Given the description of an element on the screen output the (x, y) to click on. 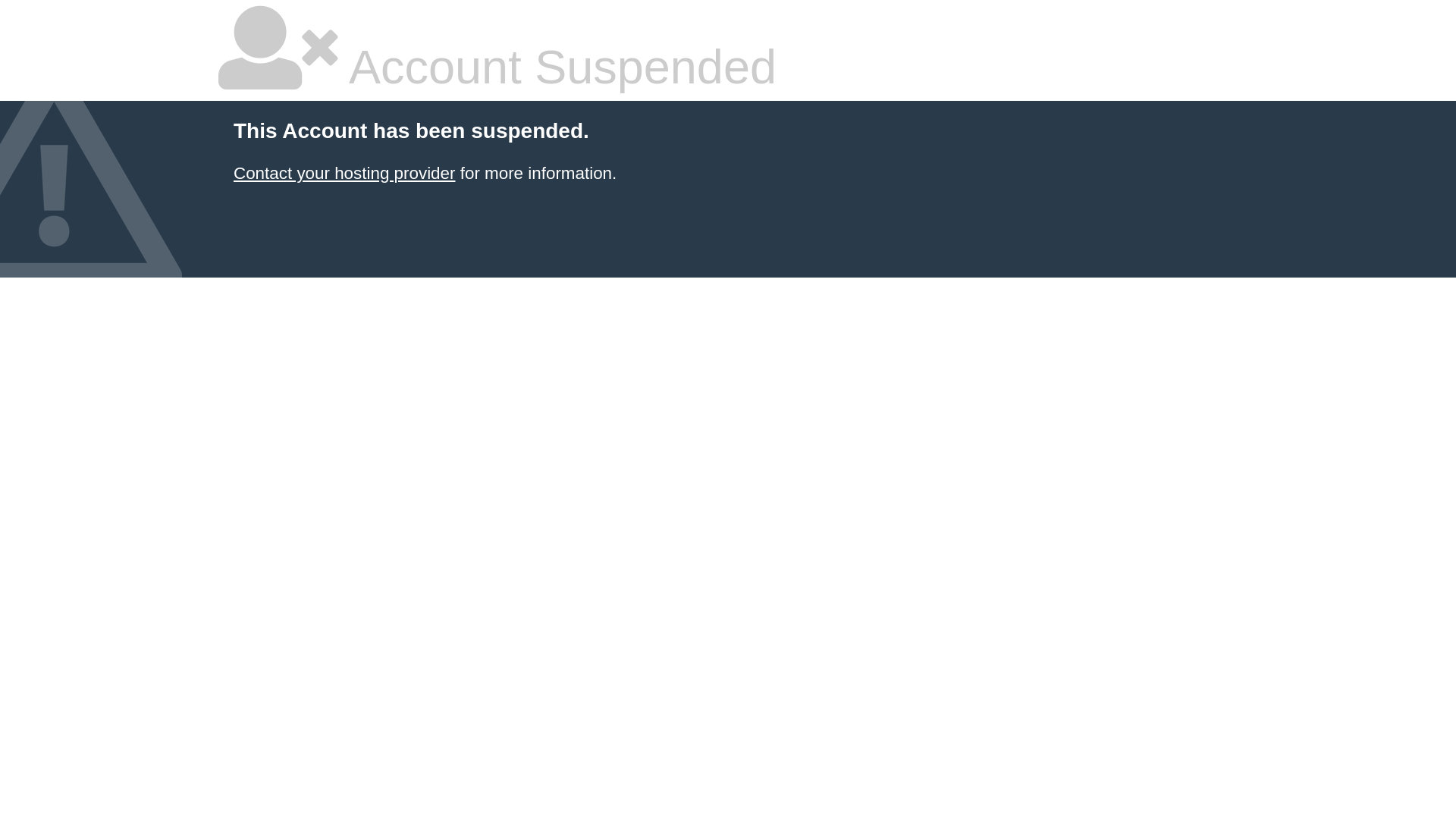
Contact your hosting provider Element type: text (344, 172)
